Given the description of an element on the screen output the (x, y) to click on. 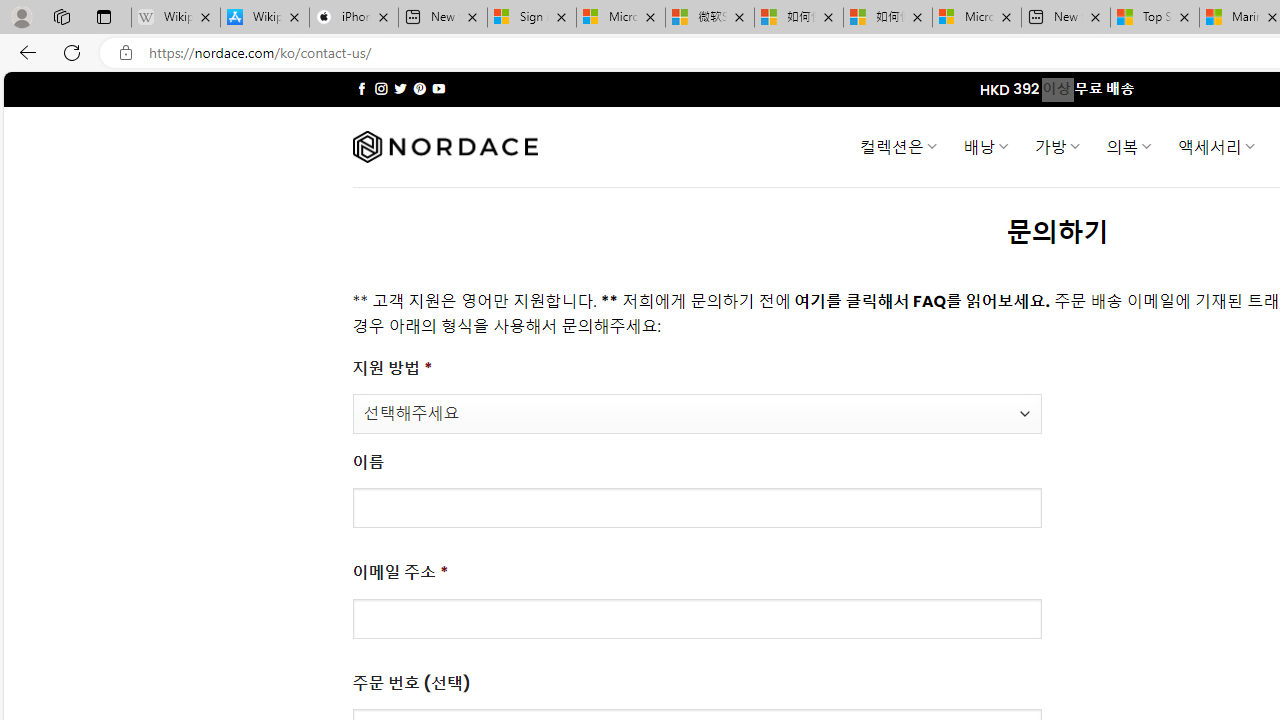
Follow on Instagram (381, 88)
Follow on Twitter (400, 88)
Follow on Facebook (361, 88)
Sign in to your Microsoft account (531, 17)
